Given the description of an element on the screen output the (x, y) to click on. 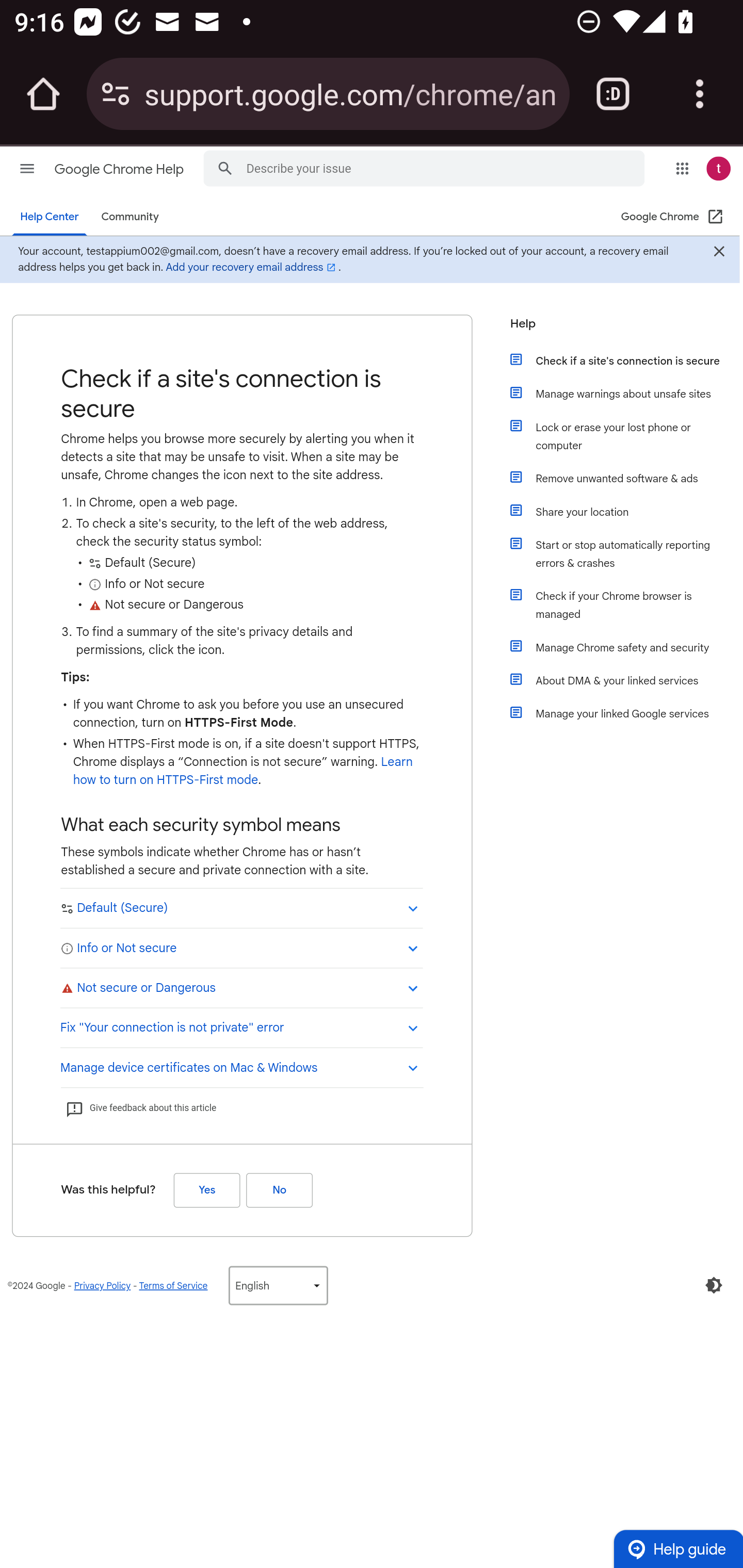
Open the home page (43, 93)
Connection is secure (115, 93)
Switch or close tabs (612, 93)
Customize and control Google Chrome (699, 93)
Main menu (27, 168)
Google Chrome Help (120, 169)
Search Help Center (224, 167)
Google apps (681, 168)
Help Center (48, 217)
Community (129, 217)
Google Chrome (Open in a new window) Google Chrome (672, 217)
Close (718, 252)
Add your recovery email address (251, 267)
Help Help Help (618, 328)
Check if a site's connection is secure (626, 360)
Manage warnings about unsafe sites (626, 393)
Lock or erase your lost phone or computer (626, 436)
Remove unwanted software & ads (626, 477)
Share your location (626, 511)
Check if your Chrome browser is managed (626, 604)
Manage Chrome safety and security (626, 647)
About DMA & your linked services (626, 680)
Manage your linked Google services (626, 713)
Learn how to turn on HTTPS-First mode (242, 770)
Default (Secure) Default (Secure) (240, 907)
View site information Info or Not secure (240, 946)
Dangerous Not secure or Dangerous (240, 987)
Fix "Your connection is not private" error (240, 1026)
Manage device certificates on Mac & Windows (240, 1065)
Give feedback about this article (140, 1107)
Yes (Was this helpful?) (206, 1189)
No (Was this helpful?) (278, 1189)
Language (English‎) (277, 1284)
Enable Dark Mode (713, 1284)
Privacy Policy (101, 1285)
Terms of Service (173, 1285)
Help guide (677, 1548)
